Given the description of an element on the screen output the (x, y) to click on. 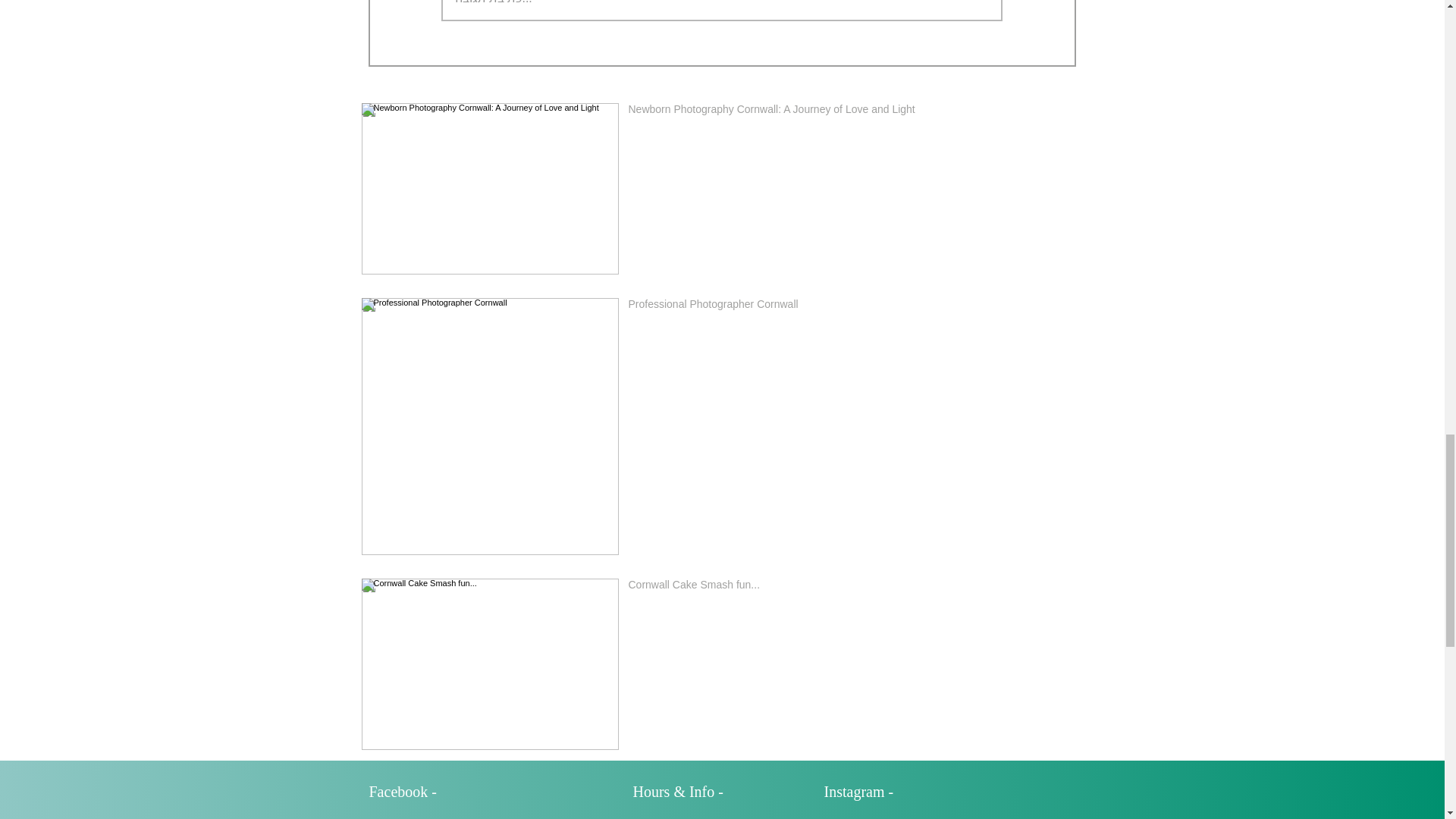
Professional Photographer Cornwall  (855, 307)
Newborn Photography Cornwall: A Journey of Love and Light (855, 112)
Cornwall Cake Smash fun... (855, 587)
